Given the description of an element on the screen output the (x, y) to click on. 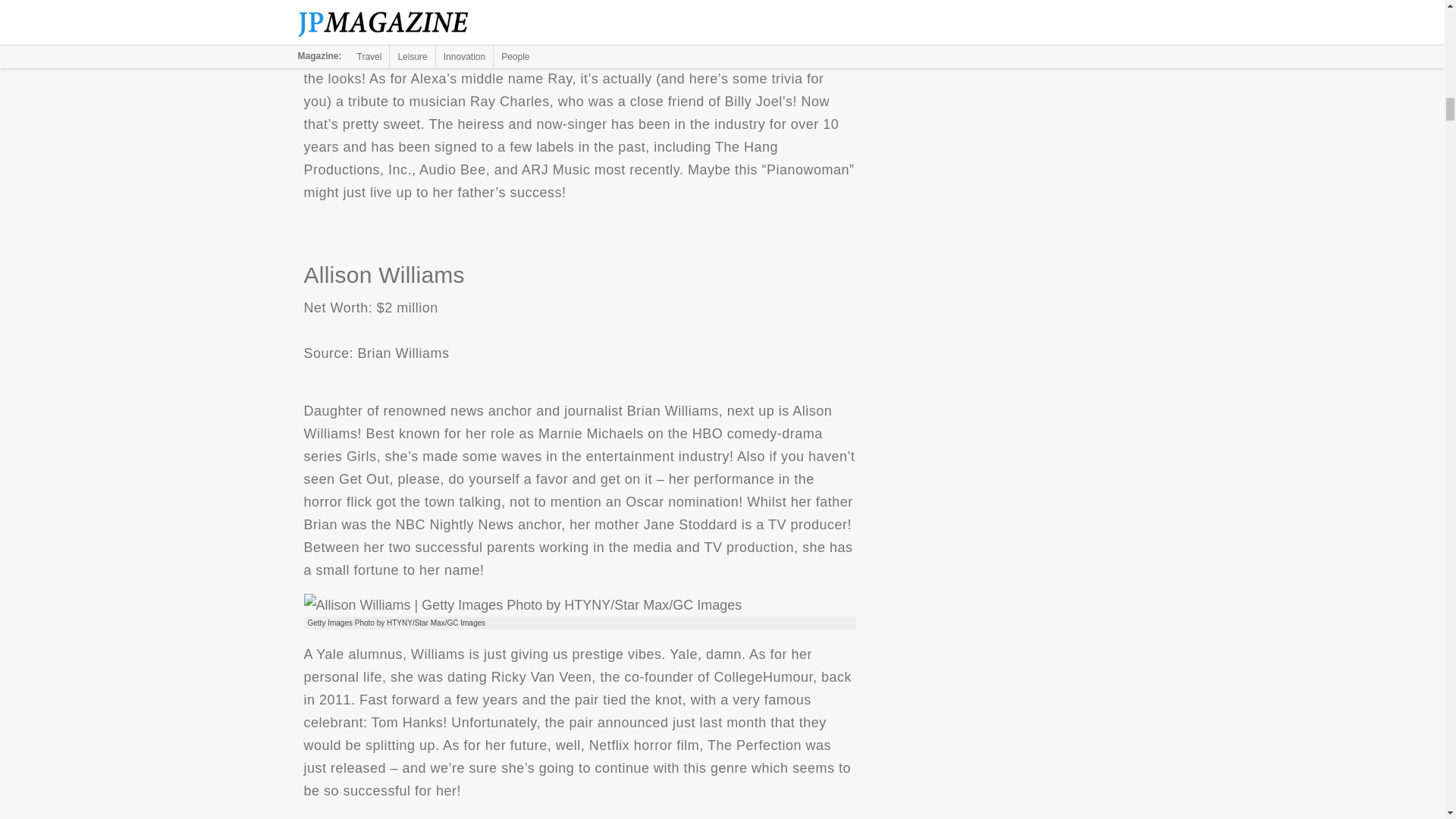
Allison Williams (521, 604)
